Given the description of an element on the screen output the (x, y) to click on. 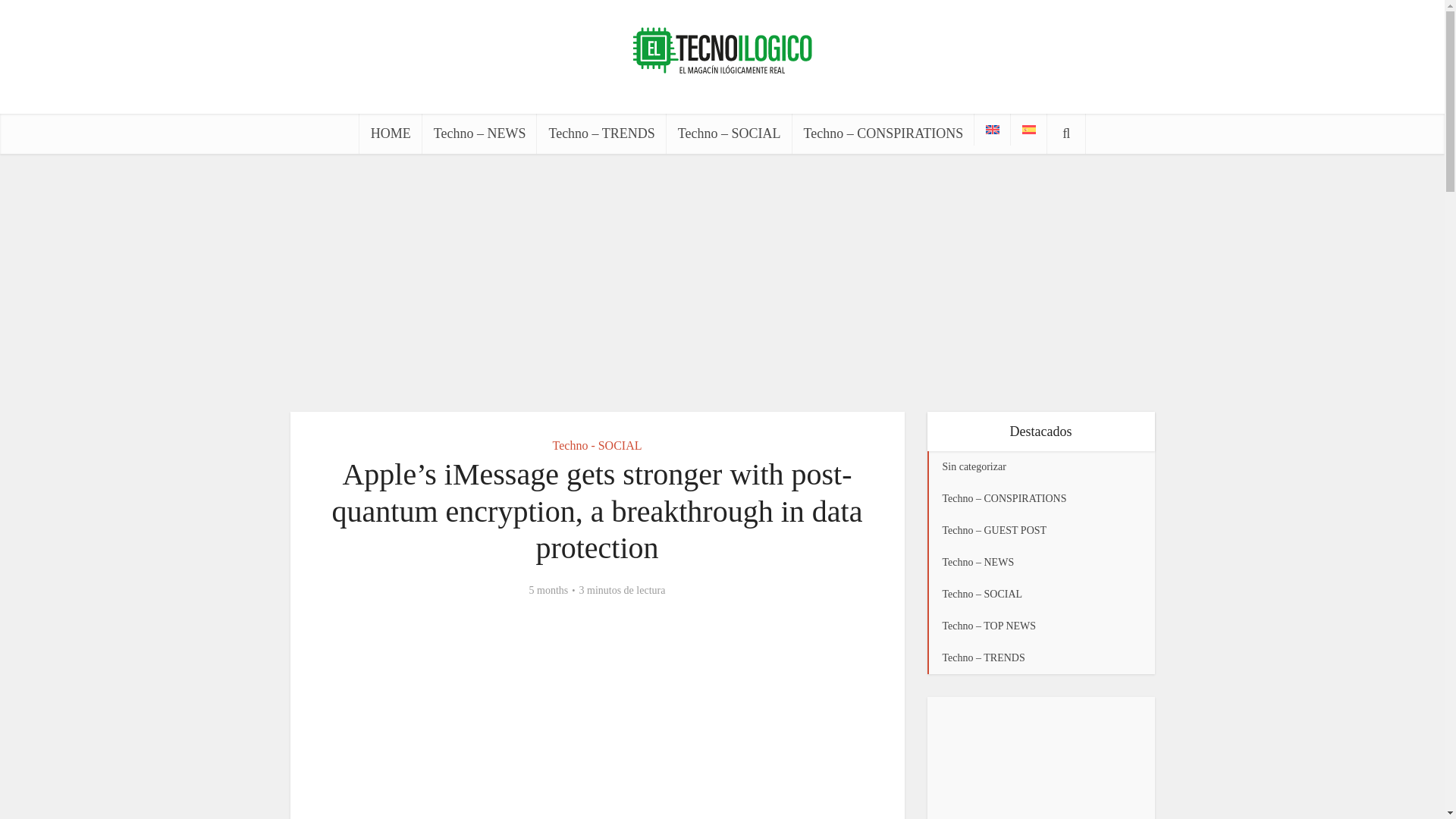
Advertisement (721, 282)
Advertisement (597, 721)
HOME (390, 133)
Advertisement (1040, 765)
Techno - SOCIAL (597, 444)
